Given the description of an element on the screen output the (x, y) to click on. 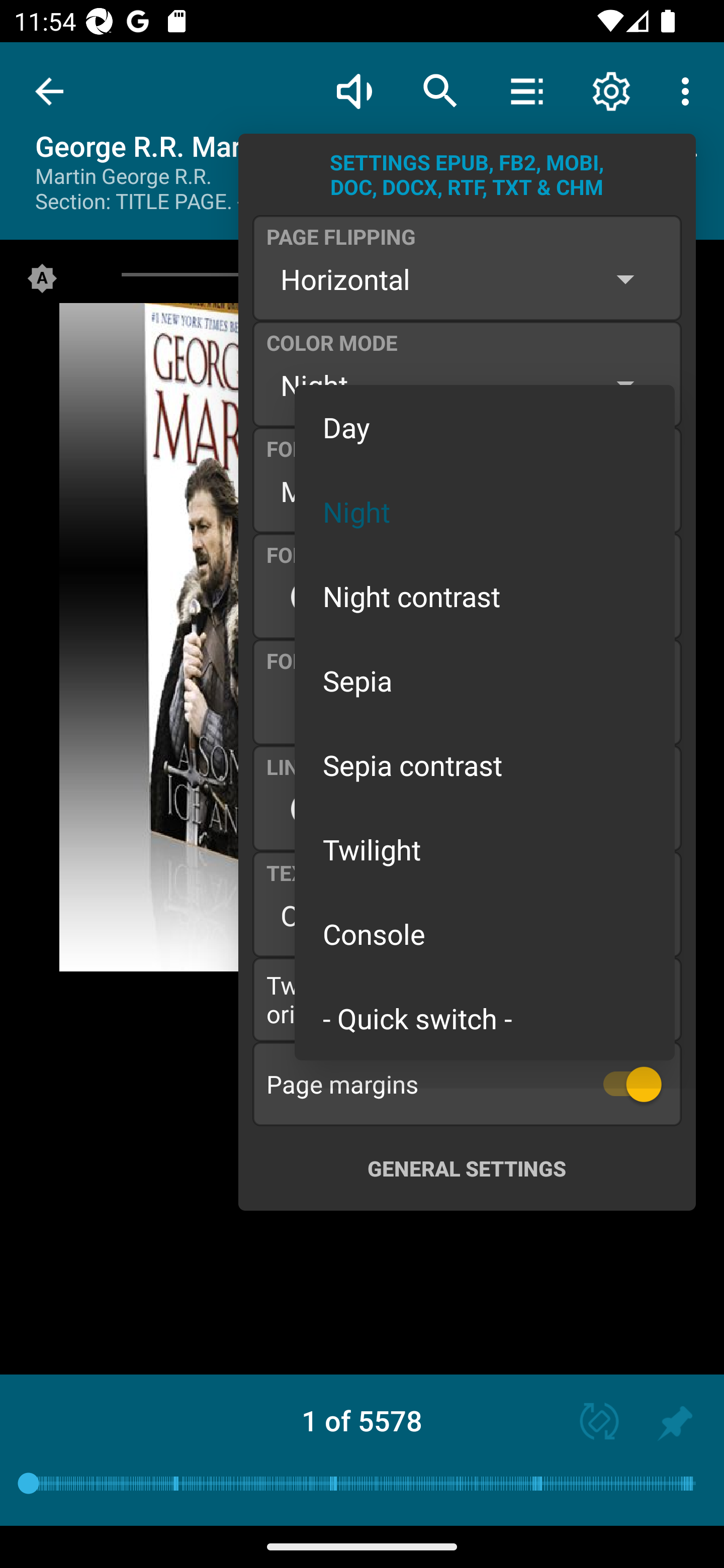
Day (484, 426)
Night (484, 510)
Night contrast (484, 595)
Sepia (484, 680)
Sepia contrast (484, 764)
Twilight (484, 849)
Console (484, 933)
- Quick switch - (484, 1017)
